Given the description of an element on the screen output the (x, y) to click on. 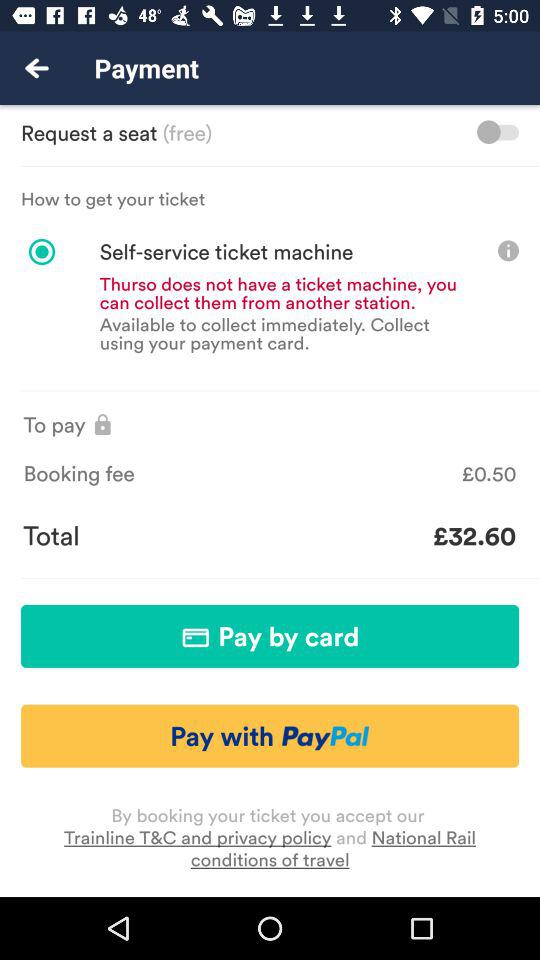
toggle seat request (497, 132)
